Given the description of an element on the screen output the (x, y) to click on. 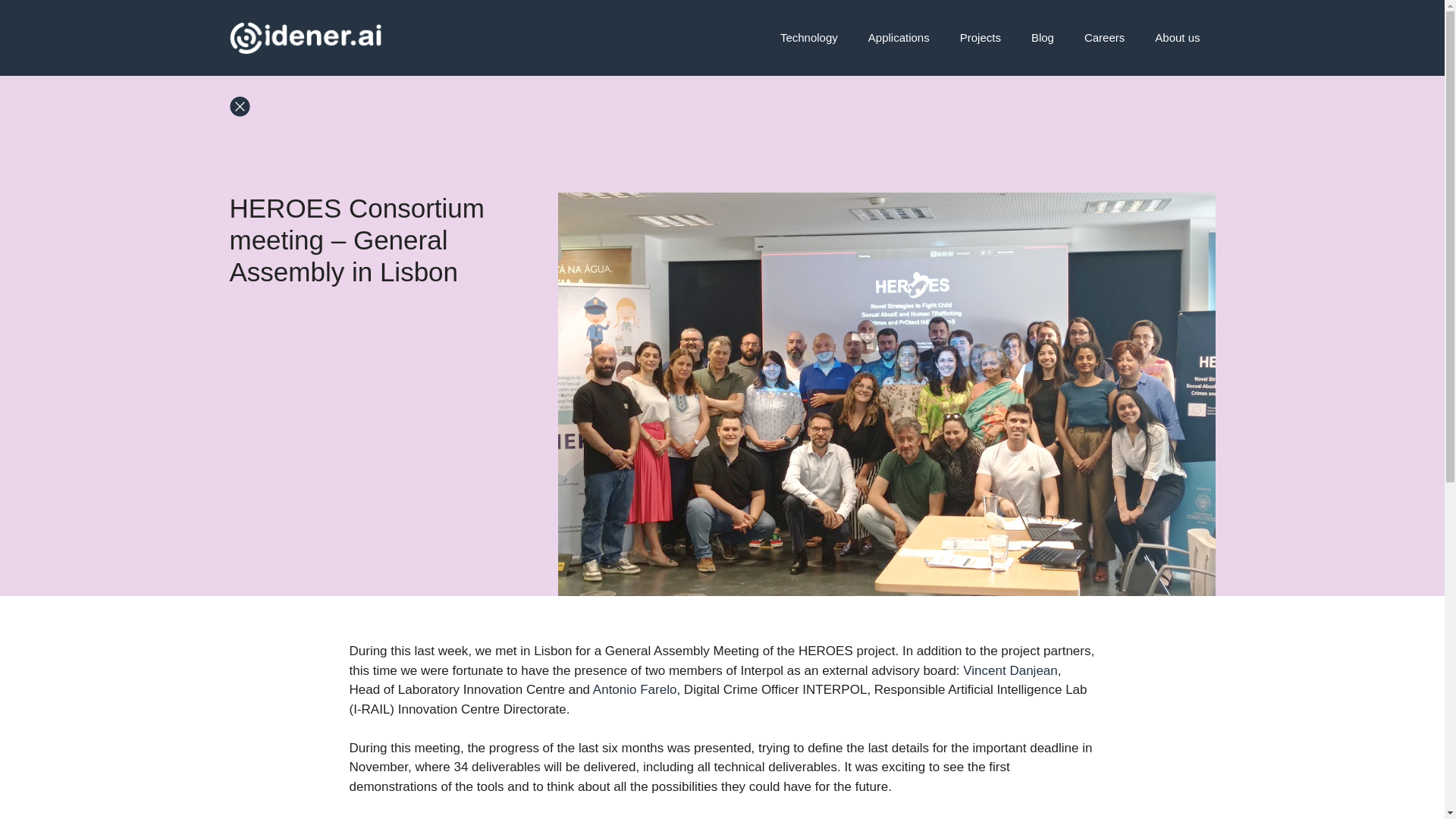
Projects (980, 37)
About us (1177, 37)
Antonio Farelo (634, 689)
Careers (1104, 37)
Applications (898, 37)
Vincent Danjean (1009, 670)
Blog (1042, 37)
Technology (809, 37)
